Given the description of an element on the screen output the (x, y) to click on. 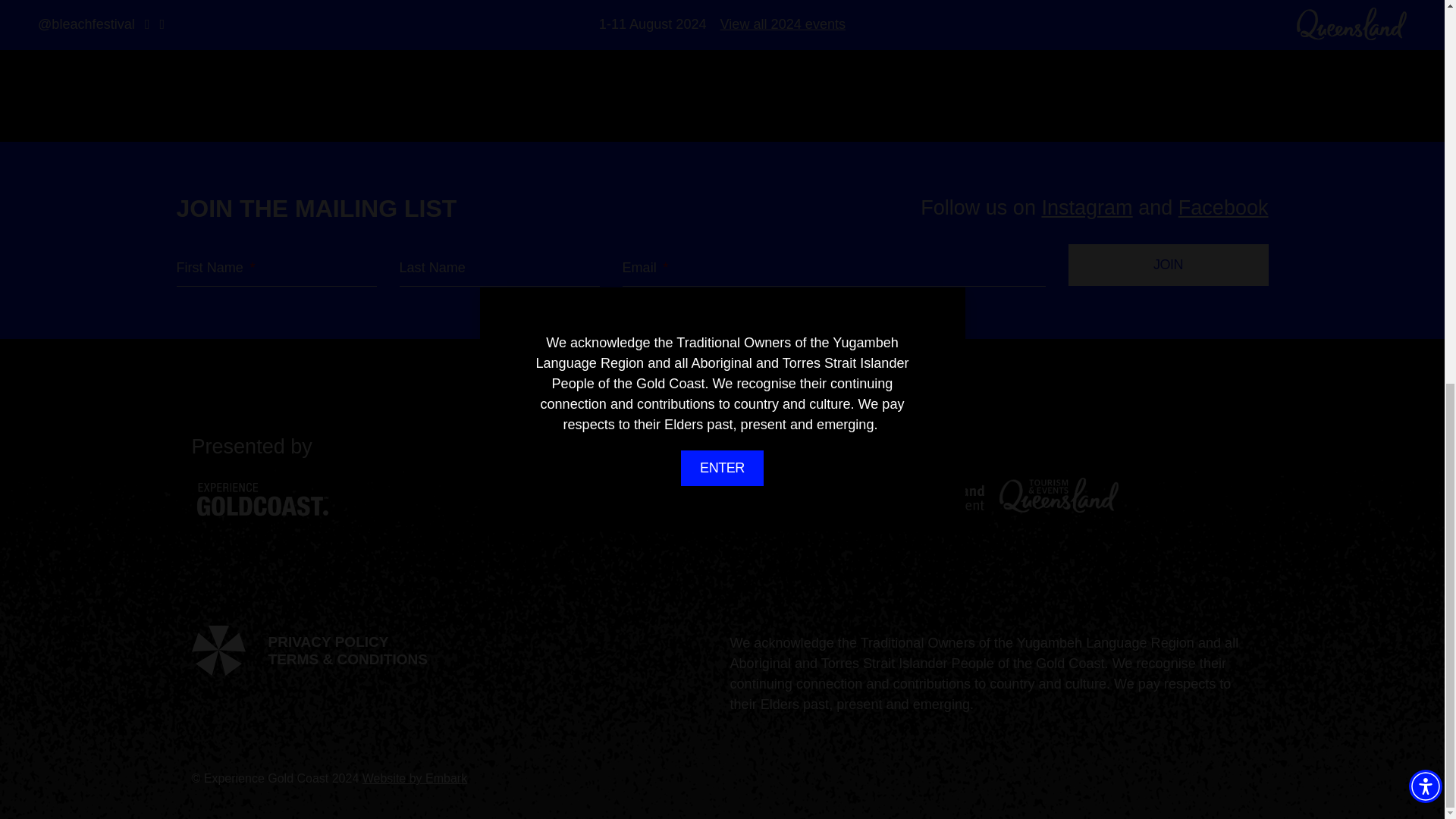
Accessibility Menu (1425, 67)
